Given the description of an element on the screen output the (x, y) to click on. 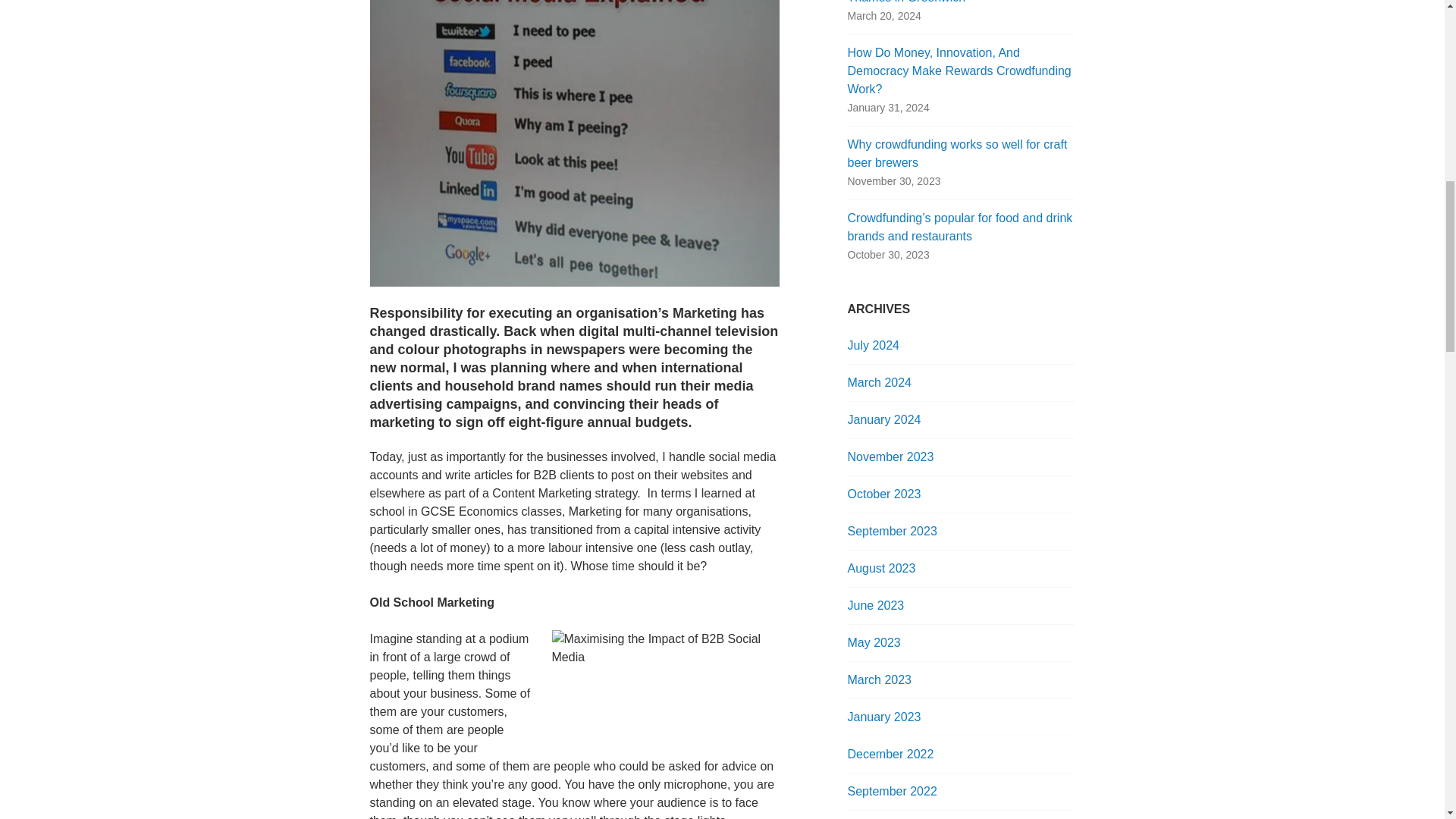
May 2023 (874, 642)
March 2024 (879, 382)
June 2023 (875, 604)
July 2024 (873, 345)
October 2023 (884, 493)
November 2023 (890, 456)
A Sponsorship Opportunity on the River Thames in Greenwich (954, 2)
August 2023 (881, 567)
January 2024 (884, 419)
September 2023 (892, 530)
Why crowdfunding works so well for craft beer brewers (957, 153)
